Given the description of an element on the screen output the (x, y) to click on. 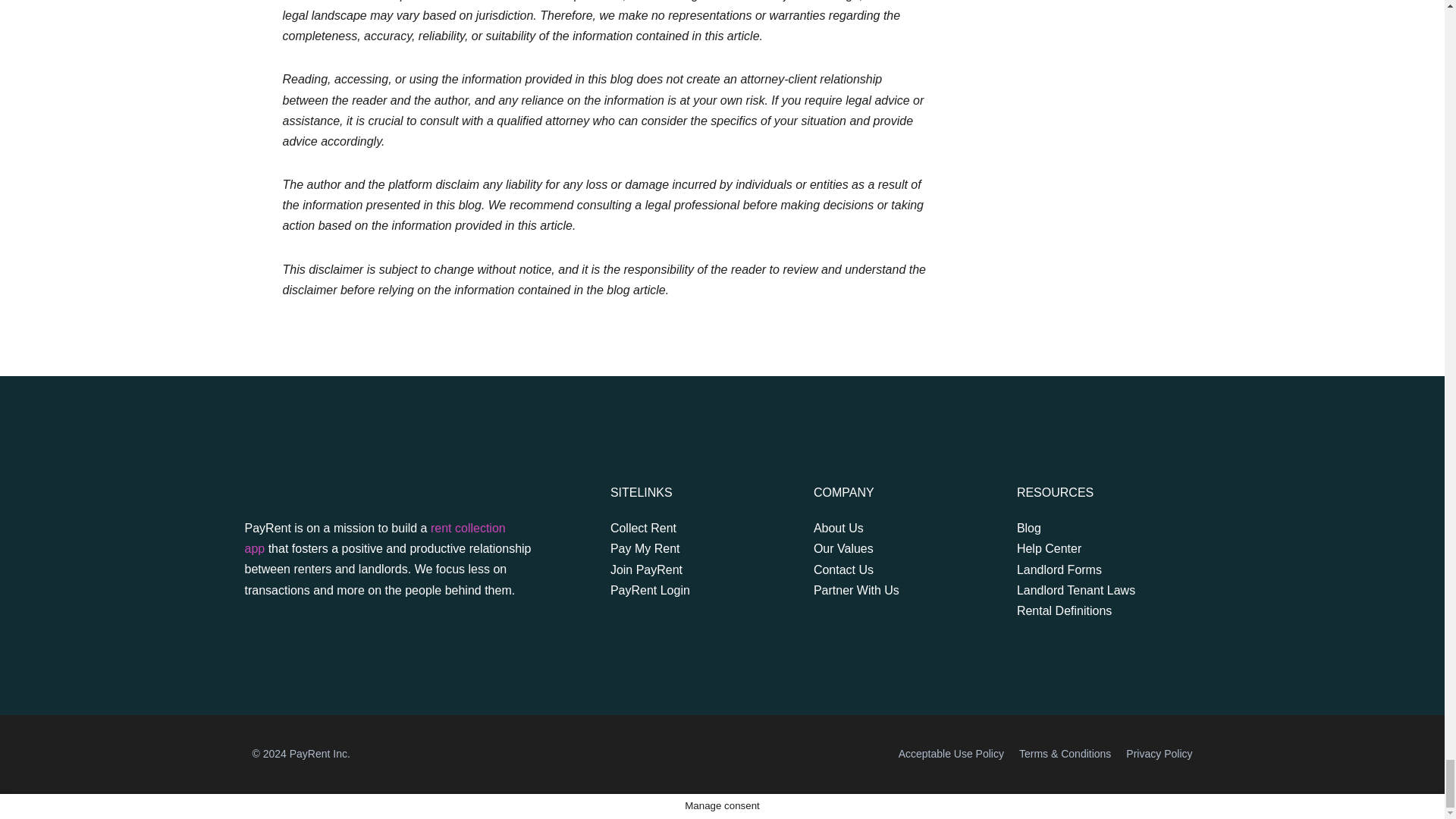
Our Values (884, 548)
Contact Us (884, 569)
